Given the description of an element on the screen output the (x, y) to click on. 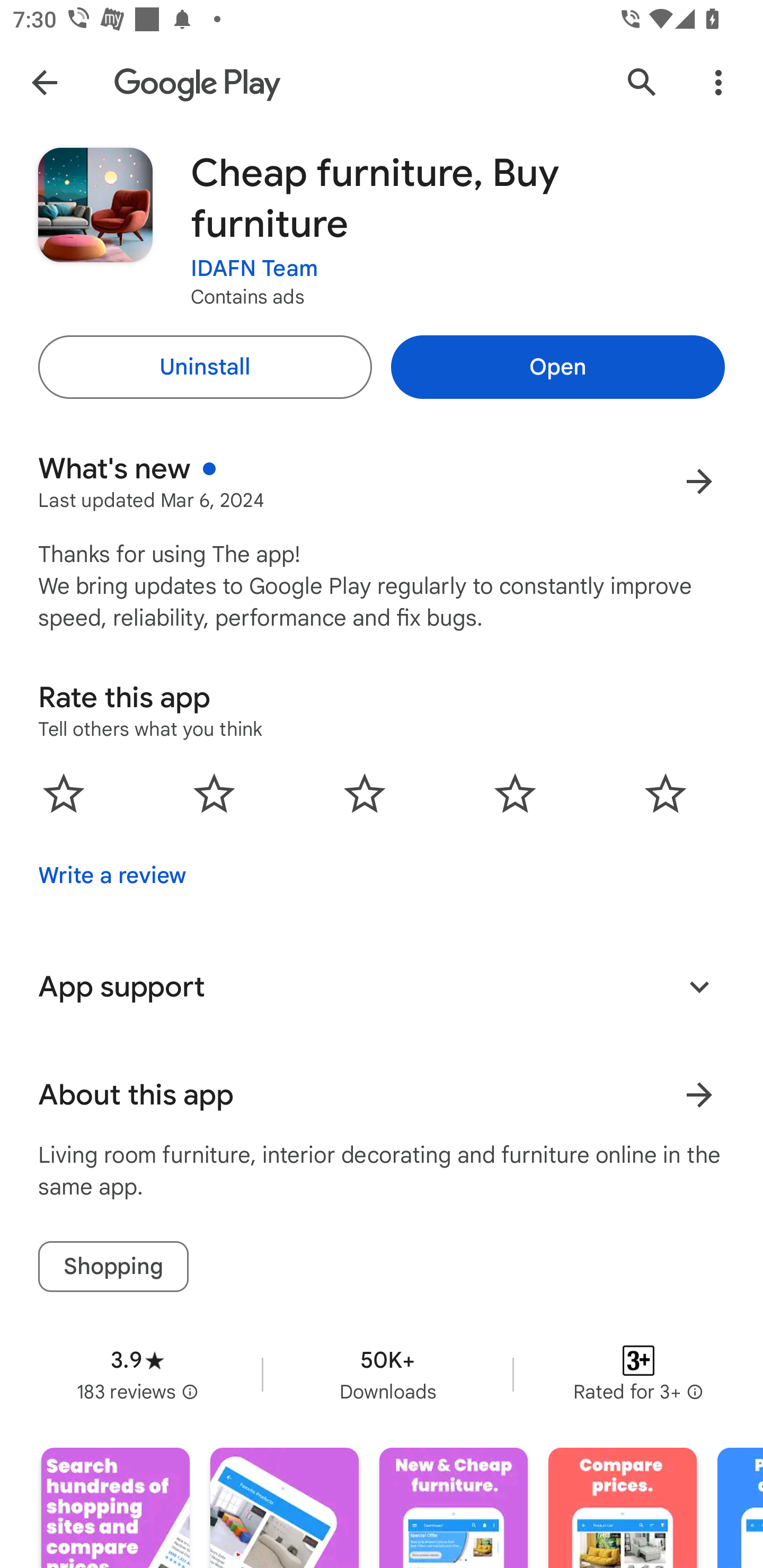
Navigate up (44, 81)
Search Google Play (642, 81)
More Options (718, 81)
IDAFN Team (254, 268)
Uninstall (205, 366)
Open (557, 366)
More results for What's new (699, 481)
0.0 (364, 792)
Write a review (112, 875)
App support Expand (381, 986)
Expand (699, 986)
About this app Learn more About this app (381, 1094)
Learn more About this app (699, 1094)
Shopping tag (113, 1265)
Average rating 3.9 stars in 183 reviews (137, 1374)
Content rating Rated for 3+ (638, 1374)
Screenshot "1" of "7" (115, 1507)
Screenshot "2" of "7" (284, 1507)
Screenshot "3" of "7" (453, 1507)
Screenshot "4" of "7" (622, 1507)
